Given the description of an element on the screen output the (x, y) to click on. 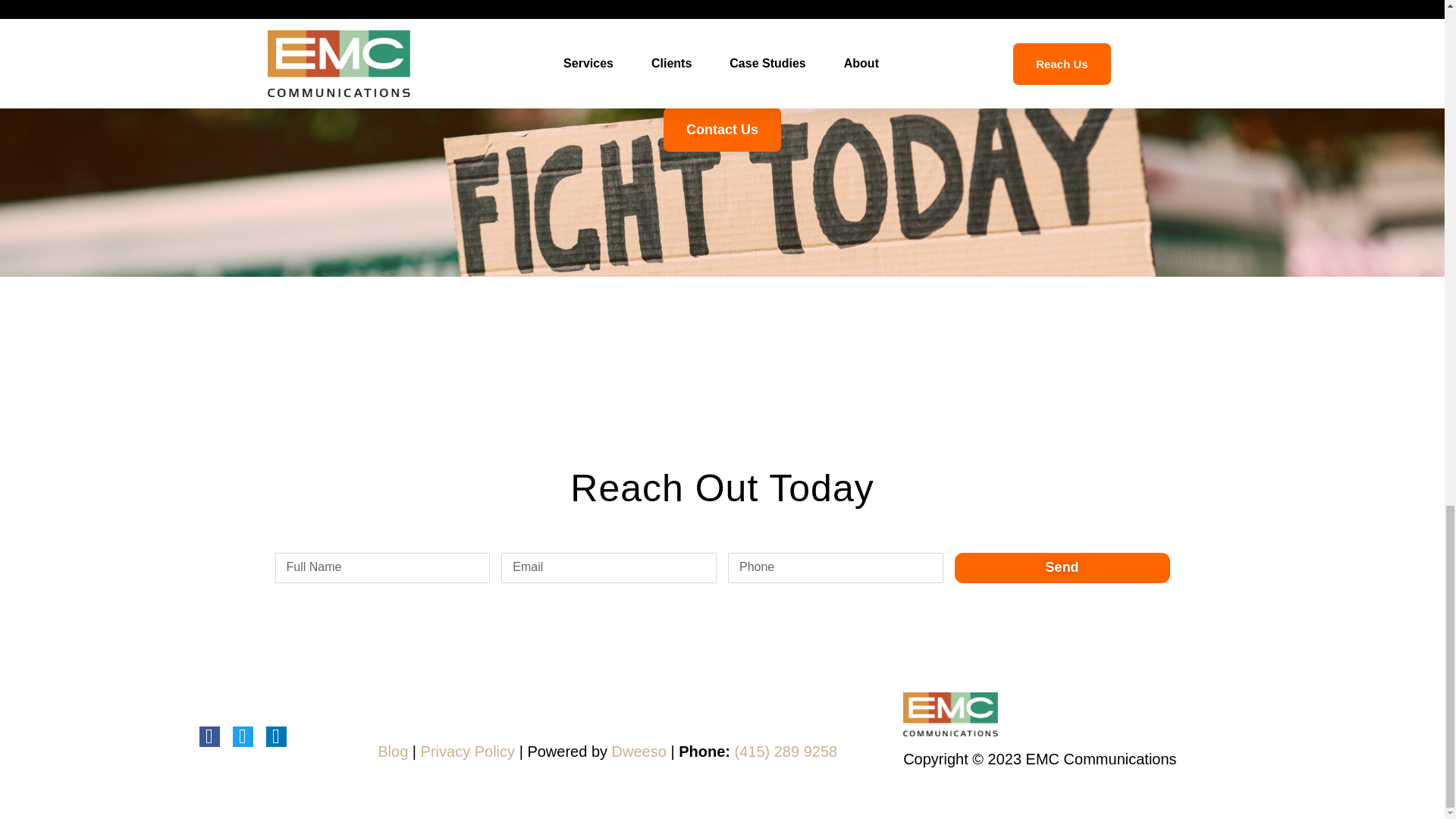
Send (1062, 567)
Blog (392, 751)
Privacy Policy (467, 751)
Dweeso (638, 751)
Contact Us (721, 129)
